Given the description of an element on the screen output the (x, y) to click on. 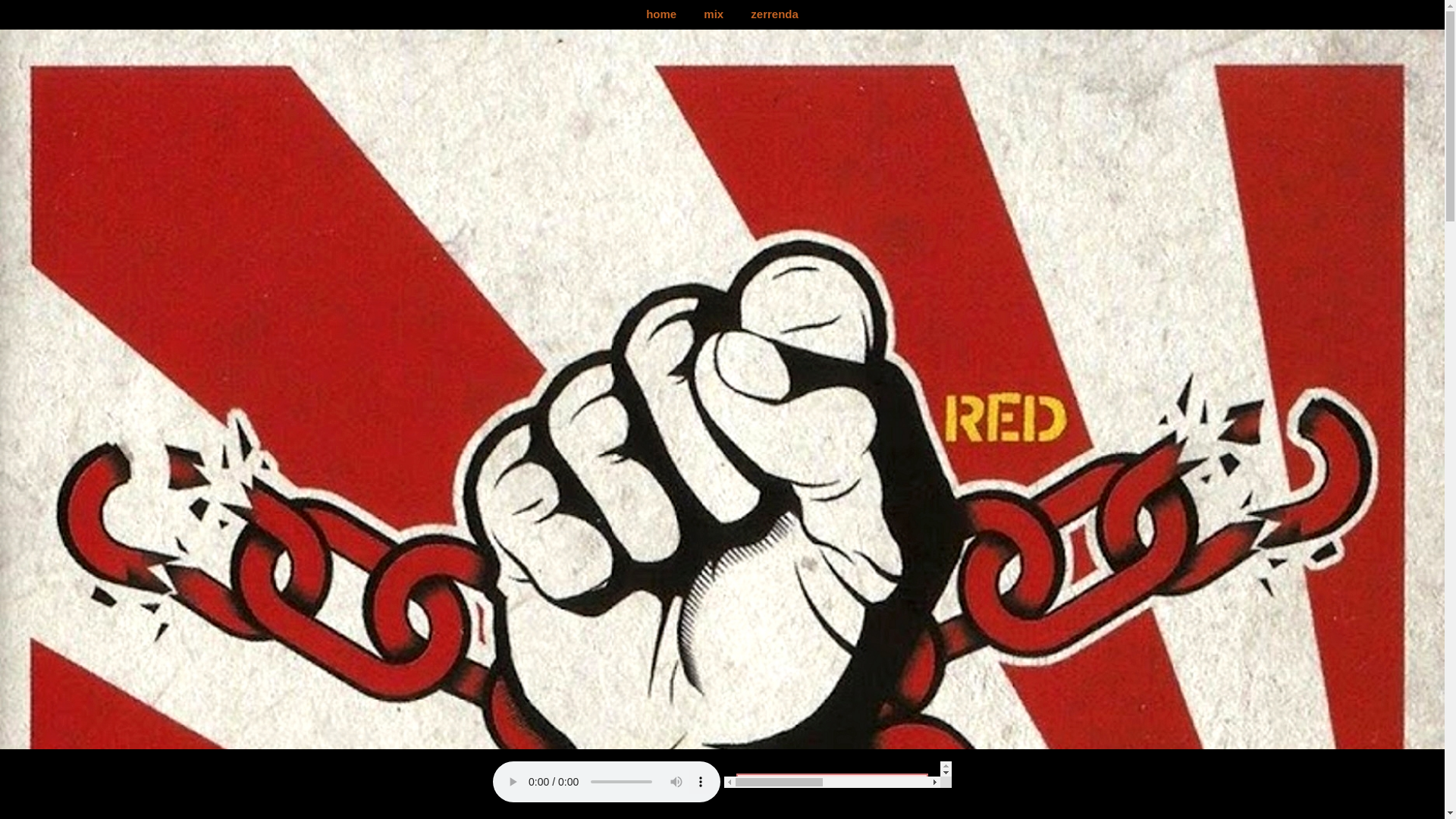
home (660, 14)
mix (713, 14)
zerrenda (774, 14)
